Given the description of an element on the screen output the (x, y) to click on. 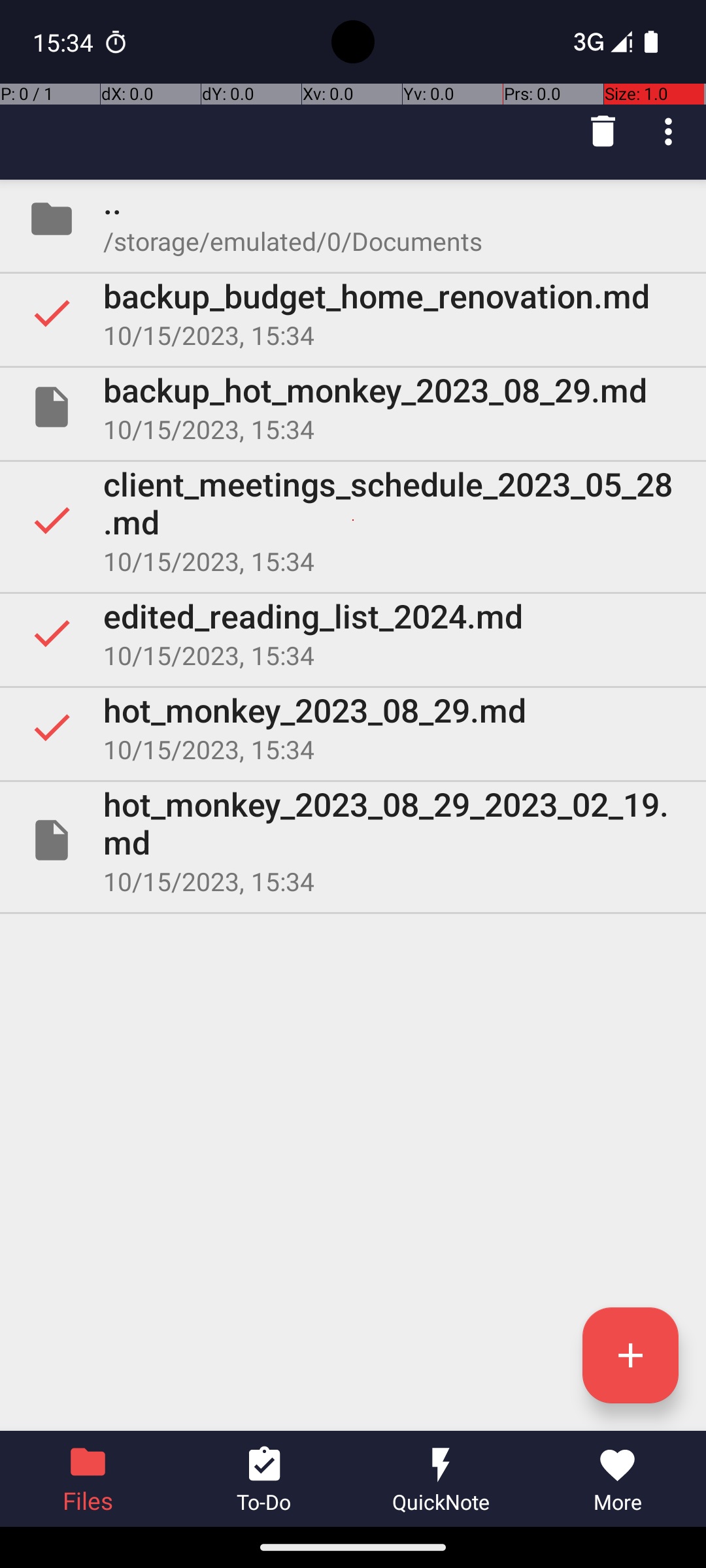
Selected backup_budget_home_renovation.md 10/15/2023, 15:34 Element type: android.widget.LinearLayout (353, 312)
File backup_hot_monkey_2023_08_29.md 10/15/2023, 15:34 Element type: android.widget.LinearLayout (353, 406)
Selected client_meetings_schedule_2023_05_28.md 10/15/2023, 15:34 Element type: android.widget.LinearLayout (353, 519)
Selected edited_reading_list_2024.md 10/15/2023, 15:34 Element type: android.widget.LinearLayout (353, 632)
Selected hot_monkey_2023_08_29.md 10/15/2023, 15:34 Element type: android.widget.LinearLayout (353, 726)
File hot_monkey_2023_08_29_2023_02_19.md  Element type: android.widget.LinearLayout (353, 840)
